Given the description of an element on the screen output the (x, y) to click on. 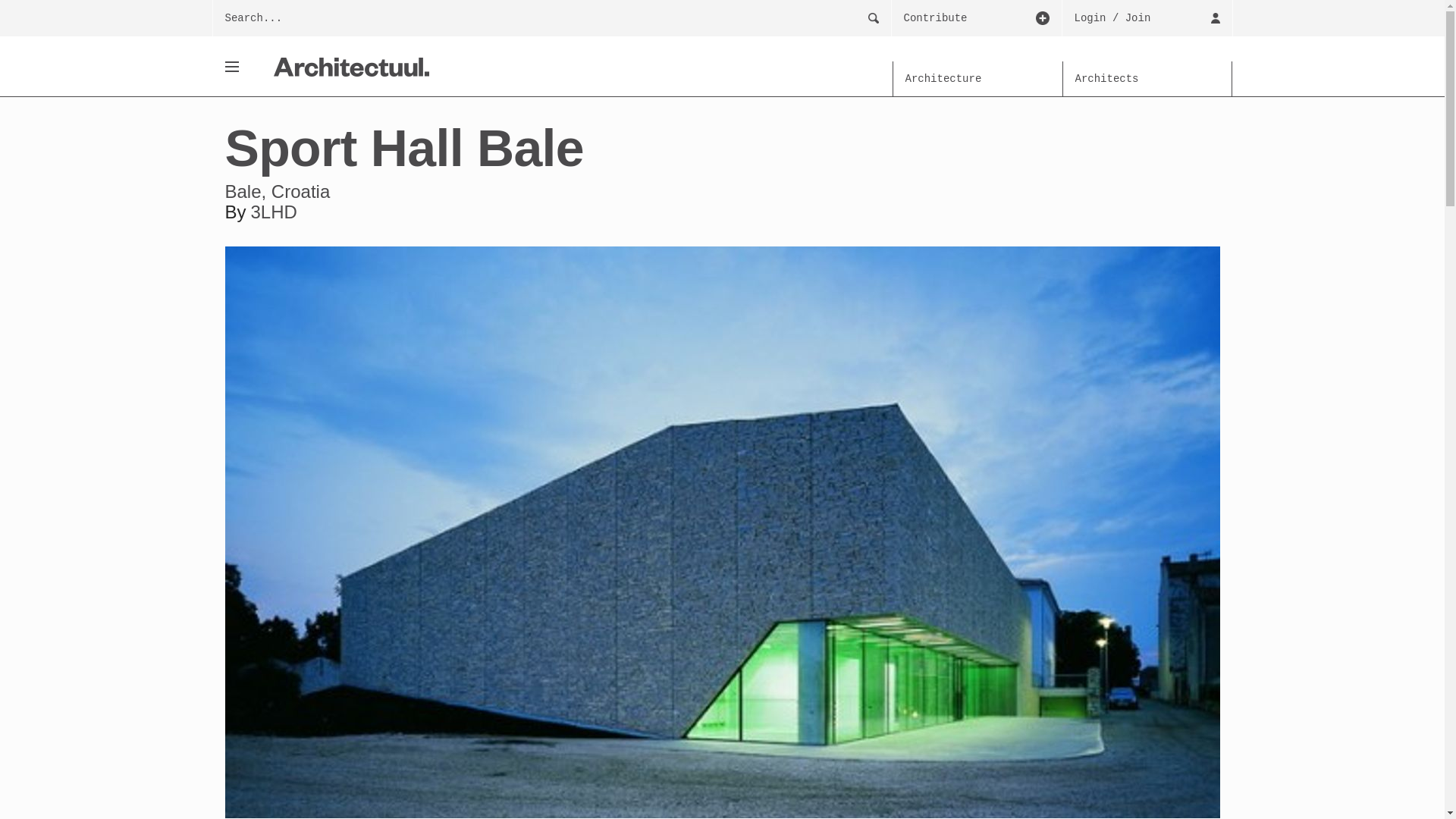
Architectuul (350, 66)
3LHD (273, 211)
